Given the description of an element on the screen output the (x, y) to click on. 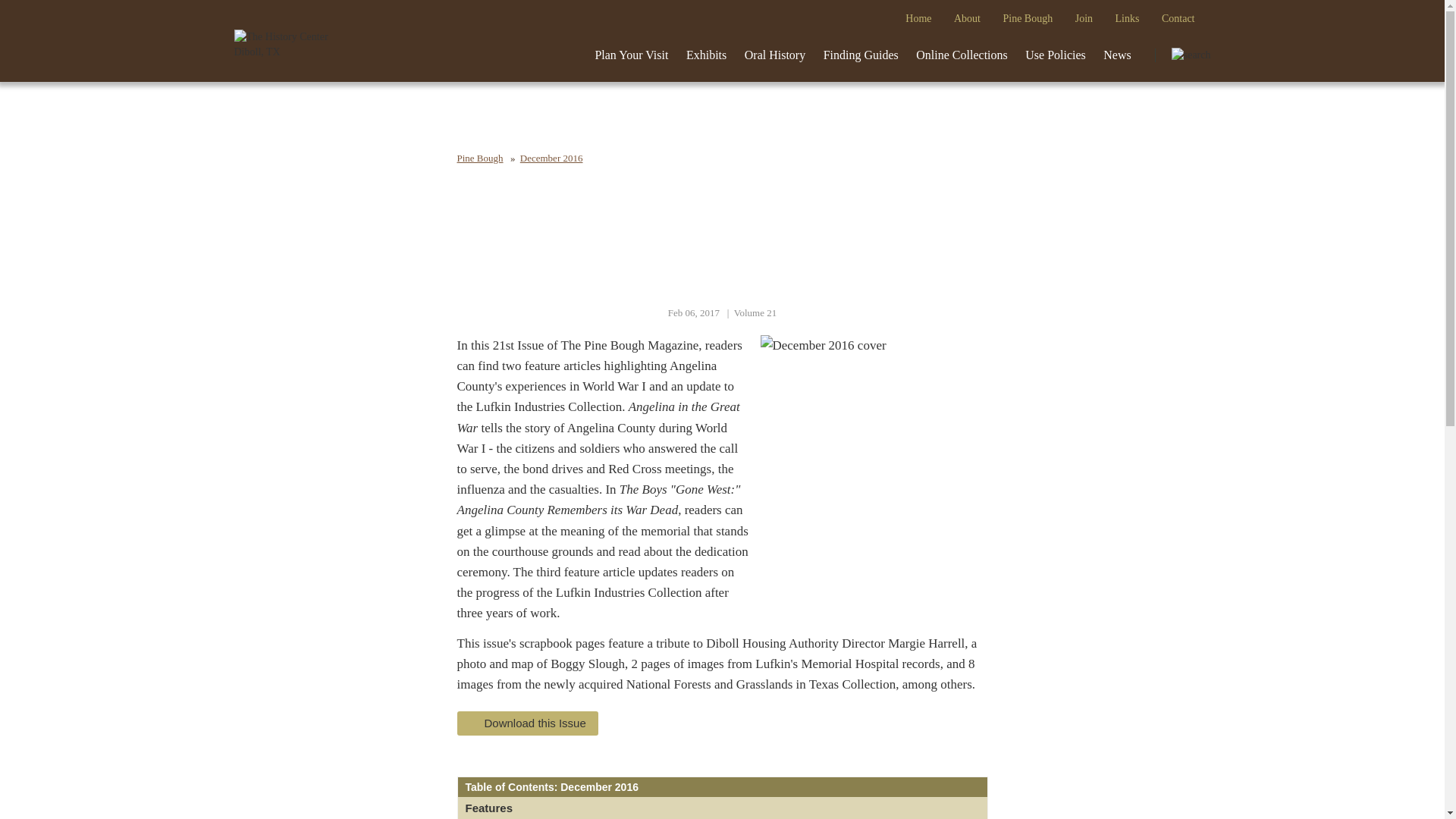
Plan Your Visit (630, 55)
Join (1083, 18)
December 2016 (551, 157)
Finding Guides (860, 55)
Pine Bough (1027, 18)
Oral History (774, 55)
About (967, 18)
Download this Issue (526, 723)
Use Policies (1055, 55)
Links (1127, 18)
